Given the description of an element on the screen output the (x, y) to click on. 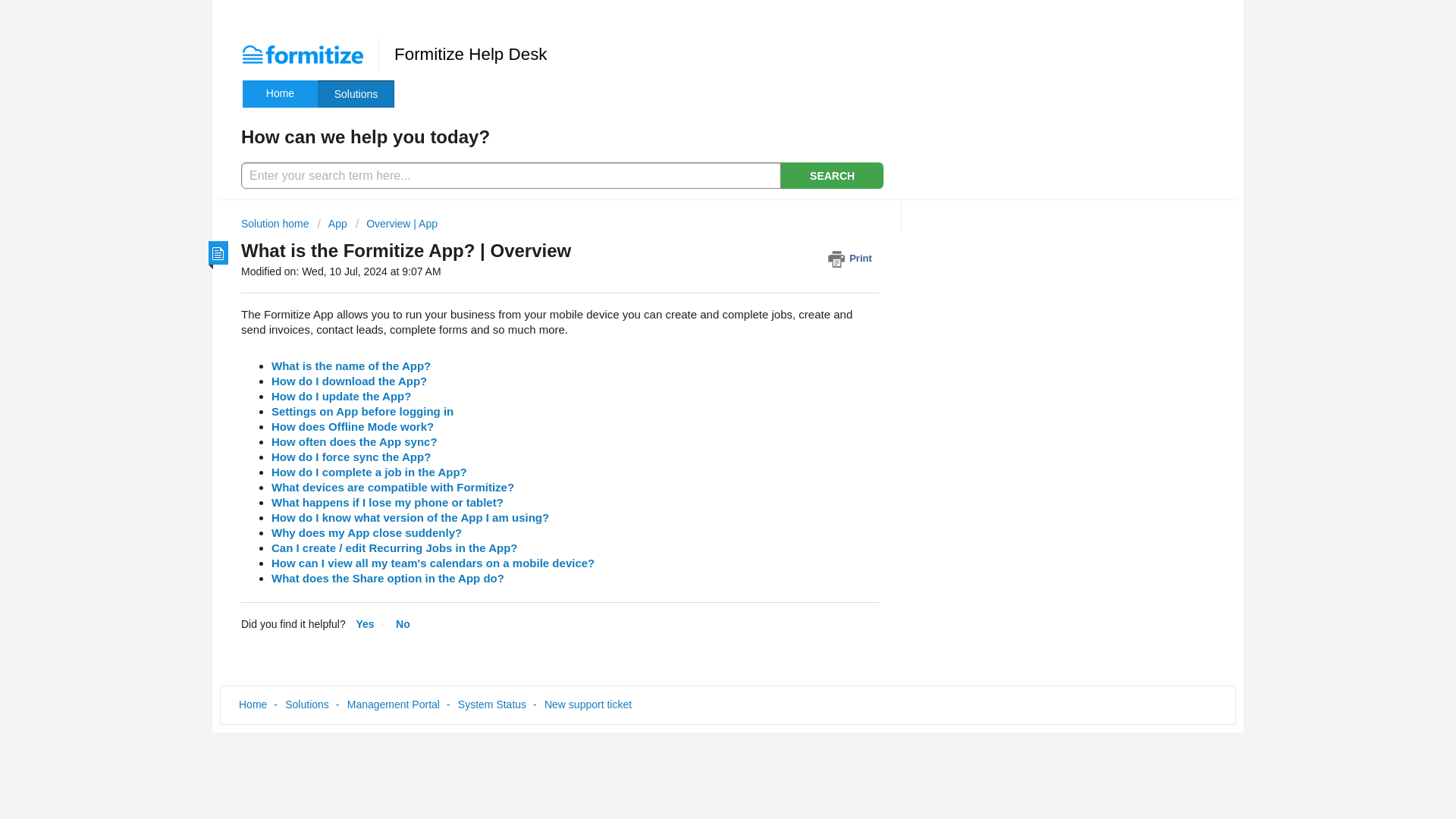
Settings on App before logging in (361, 410)
What is the name of the App? (350, 365)
SEARCH (831, 175)
How can I view all my team's calendars on a mobile device? (432, 562)
How often does the App sync? (354, 440)
How do I complete a job in the App? (368, 472)
How do I update the App? (340, 395)
How does Offline Mode work? (351, 426)
How do I force sync the App? (350, 456)
Print this Article (853, 257)
